Given the description of an element on the screen output the (x, y) to click on. 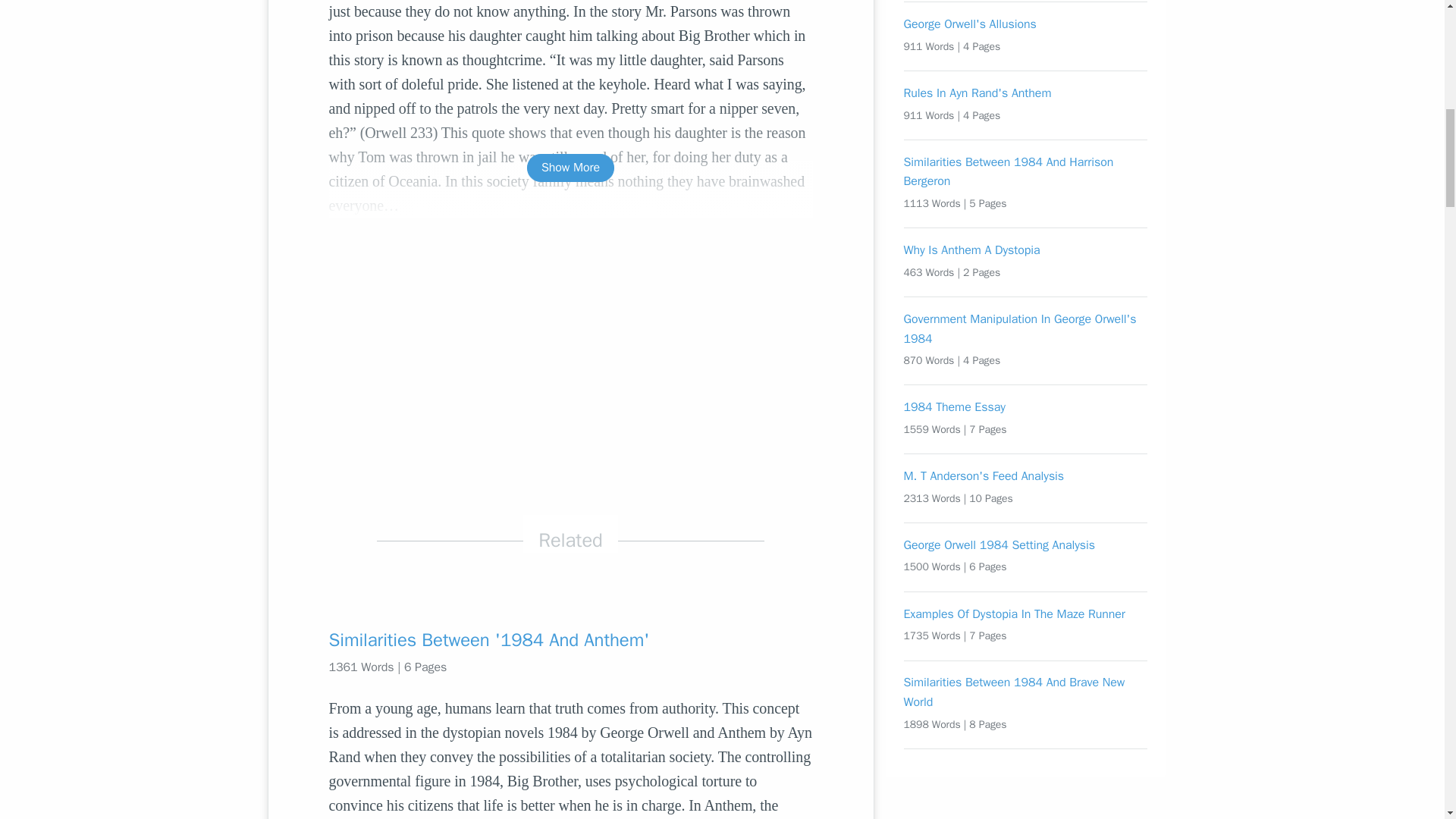
Similarities Between '1984 And Anthem' (570, 639)
Show More (570, 167)
